Given the description of an element on the screen output the (x, y) to click on. 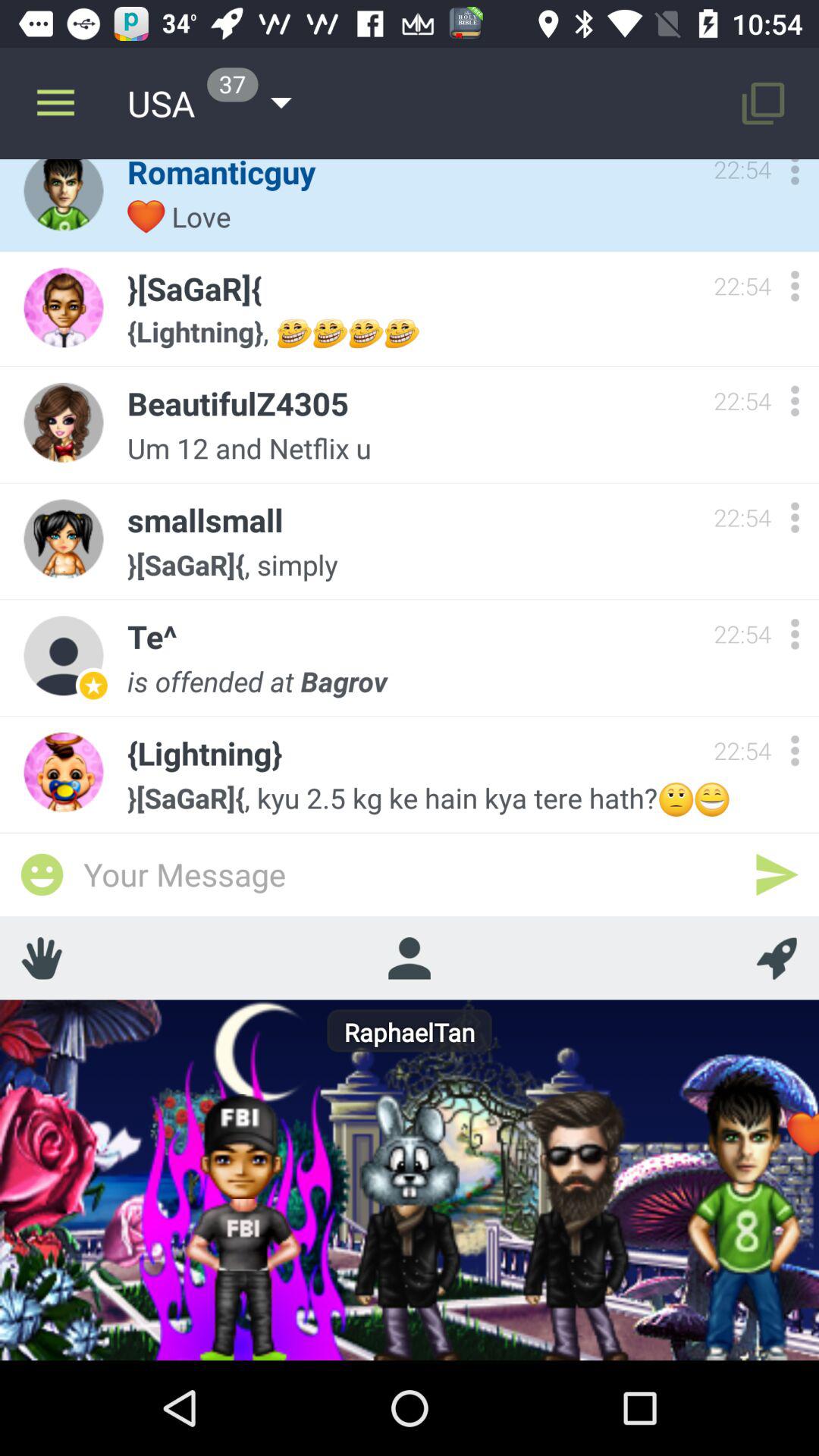
share the article (41, 957)
